Given the description of an element on the screen output the (x, y) to click on. 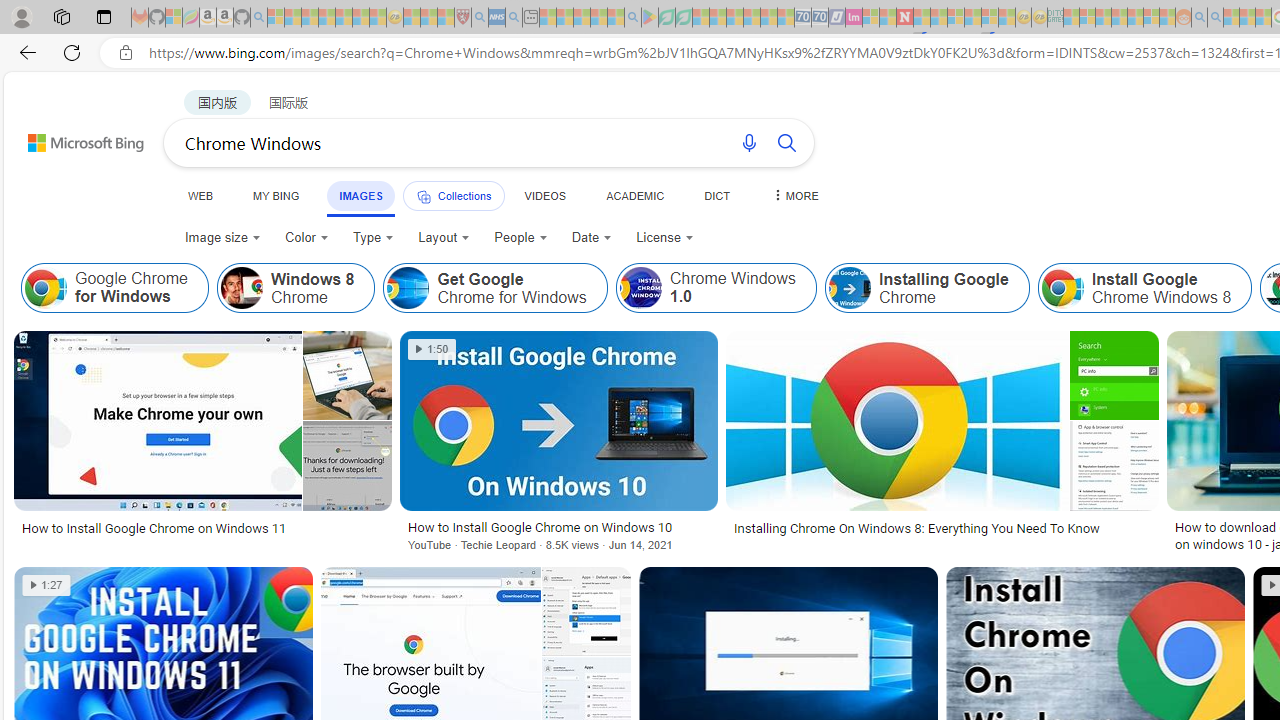
Windows 8 Chrome (241, 287)
WEB (201, 195)
14 Common Myths Debunked By Scientific Facts - Sleeping (938, 17)
MORE (793, 195)
License (664, 237)
Local - MSN - Sleeping (445, 17)
Latest Politics News & Archive | Newsweek.com - Sleeping (904, 17)
ACADEMIC (635, 195)
Robert H. Shmerling, MD - Harvard Health - Sleeping (462, 17)
License (665, 237)
